Given the description of an element on the screen output the (x, y) to click on. 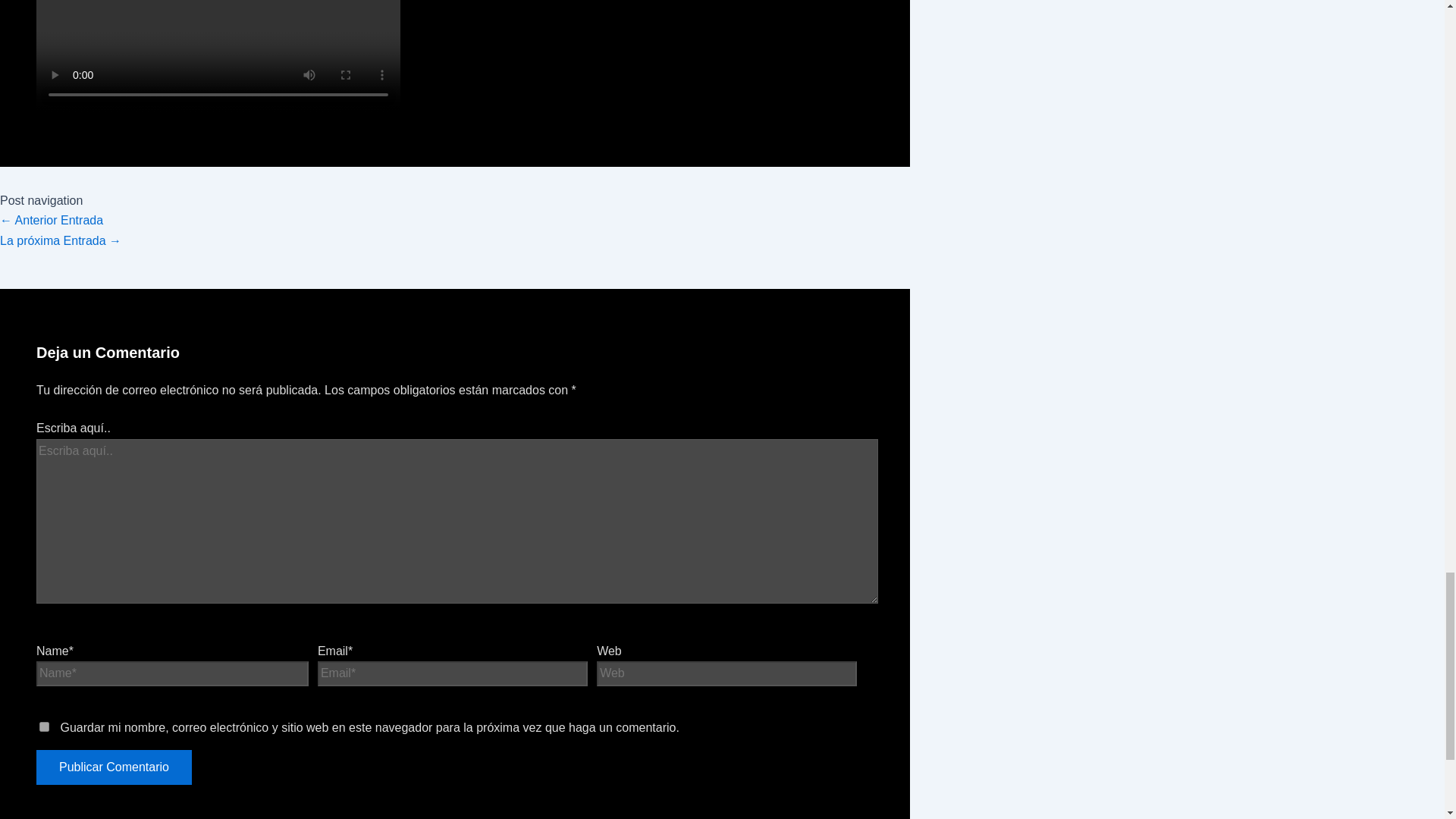
Publicar Comentario (114, 767)
Publicar Comentario (114, 767)
Unleashing the Power of Asset Recovery Specialists in 2024 (60, 239)
yes (44, 726)
